Given the description of an element on the screen output the (x, y) to click on. 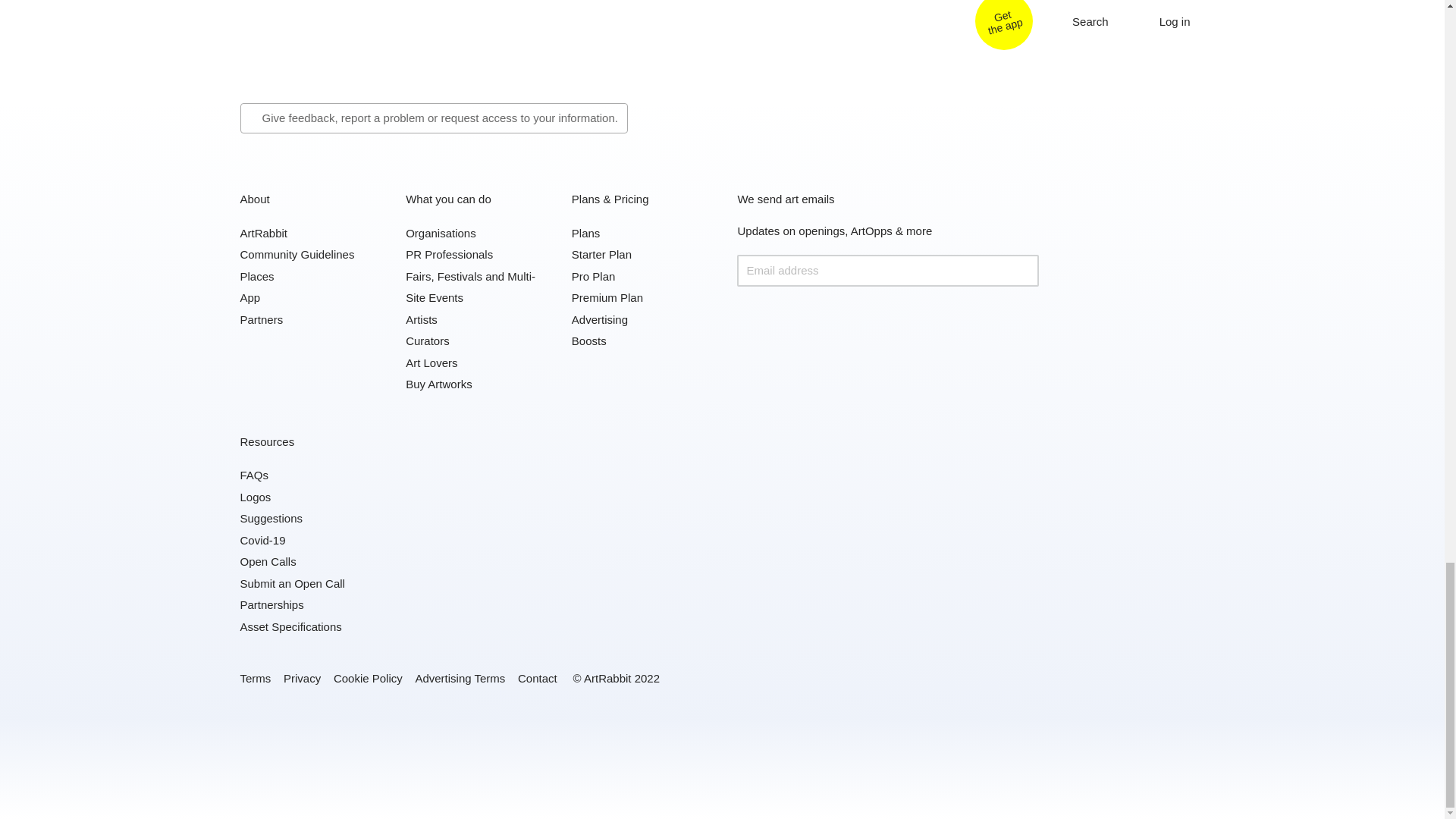
submit (1021, 270)
